Given the description of an element on the screen output the (x, y) to click on. 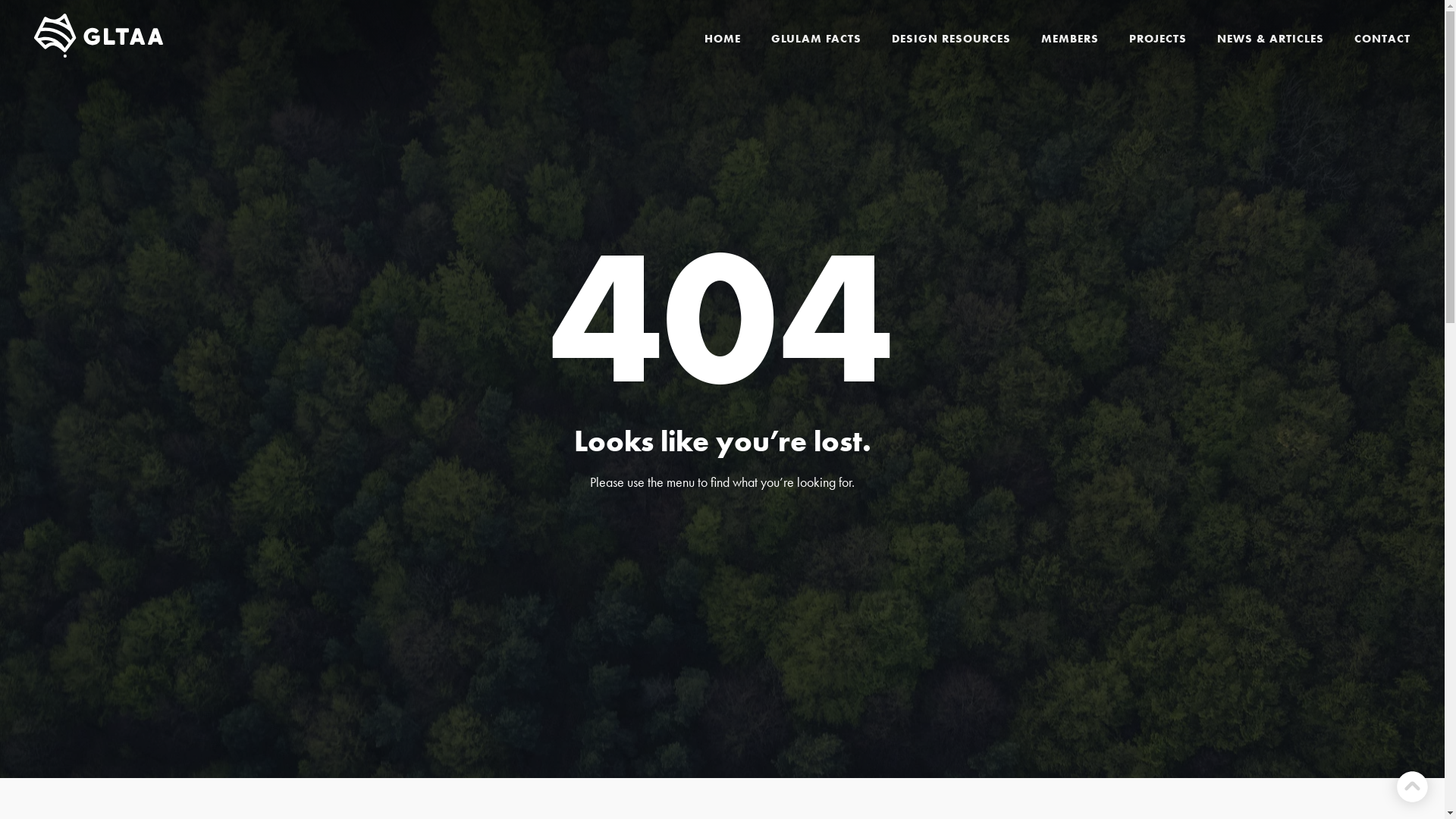
DESIGN RESOURCES Element type: text (951, 38)
CONTACT Element type: text (1382, 38)
PROJECTS Element type: text (1157, 38)
GLULAM FACTS Element type: text (816, 38)
HOME Element type: text (722, 38)
MEMBERS Element type: text (1069, 38)
NEWS & ARTICLES Element type: text (1270, 38)
